Given the description of an element on the screen output the (x, y) to click on. 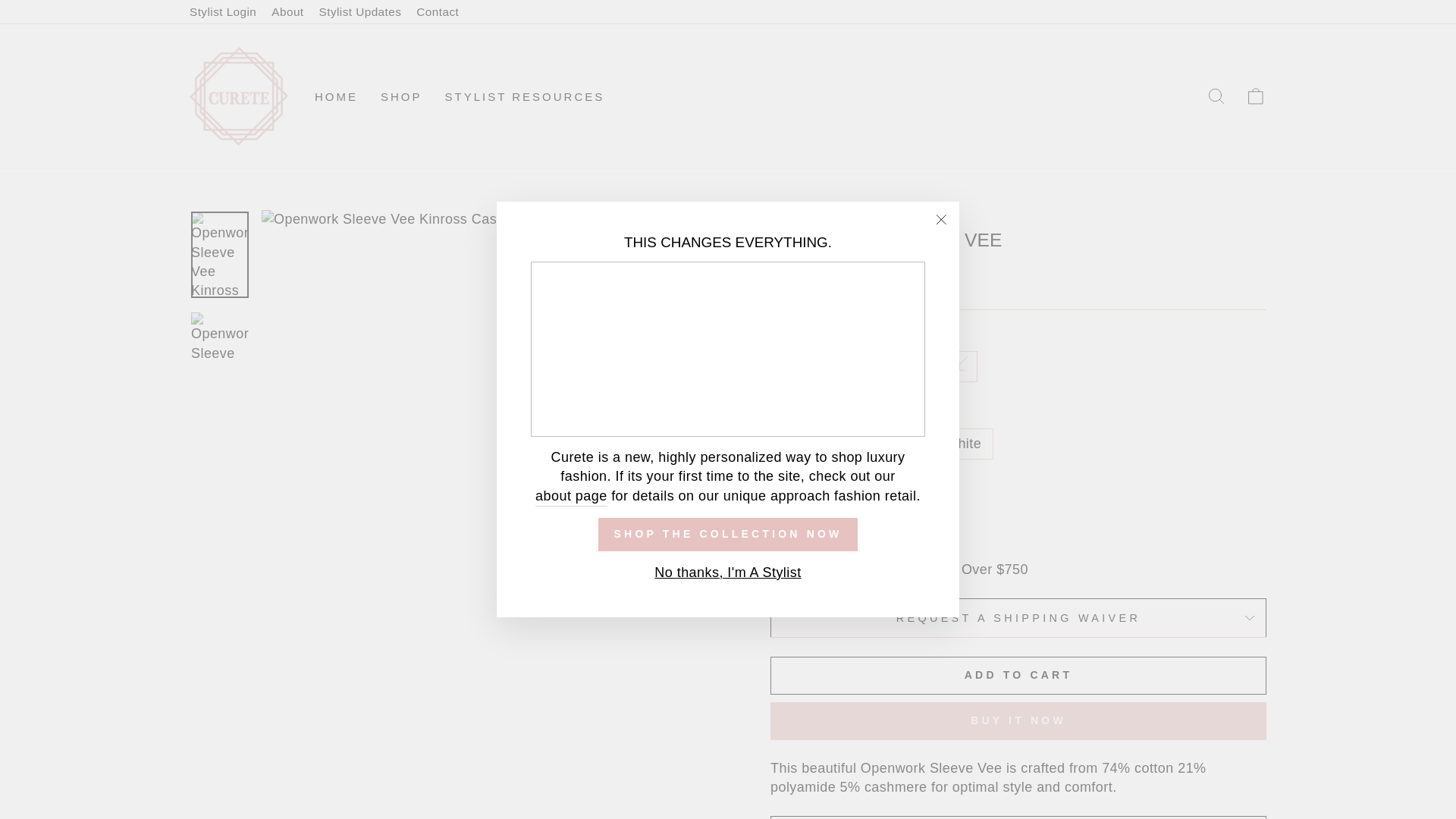
About (571, 496)
SHOP (401, 95)
Contact (437, 11)
About (287, 11)
HOME (335, 95)
Kinross Cashmere (853, 217)
Stylist Updates (360, 11)
